Given the description of an element on the screen output the (x, y) to click on. 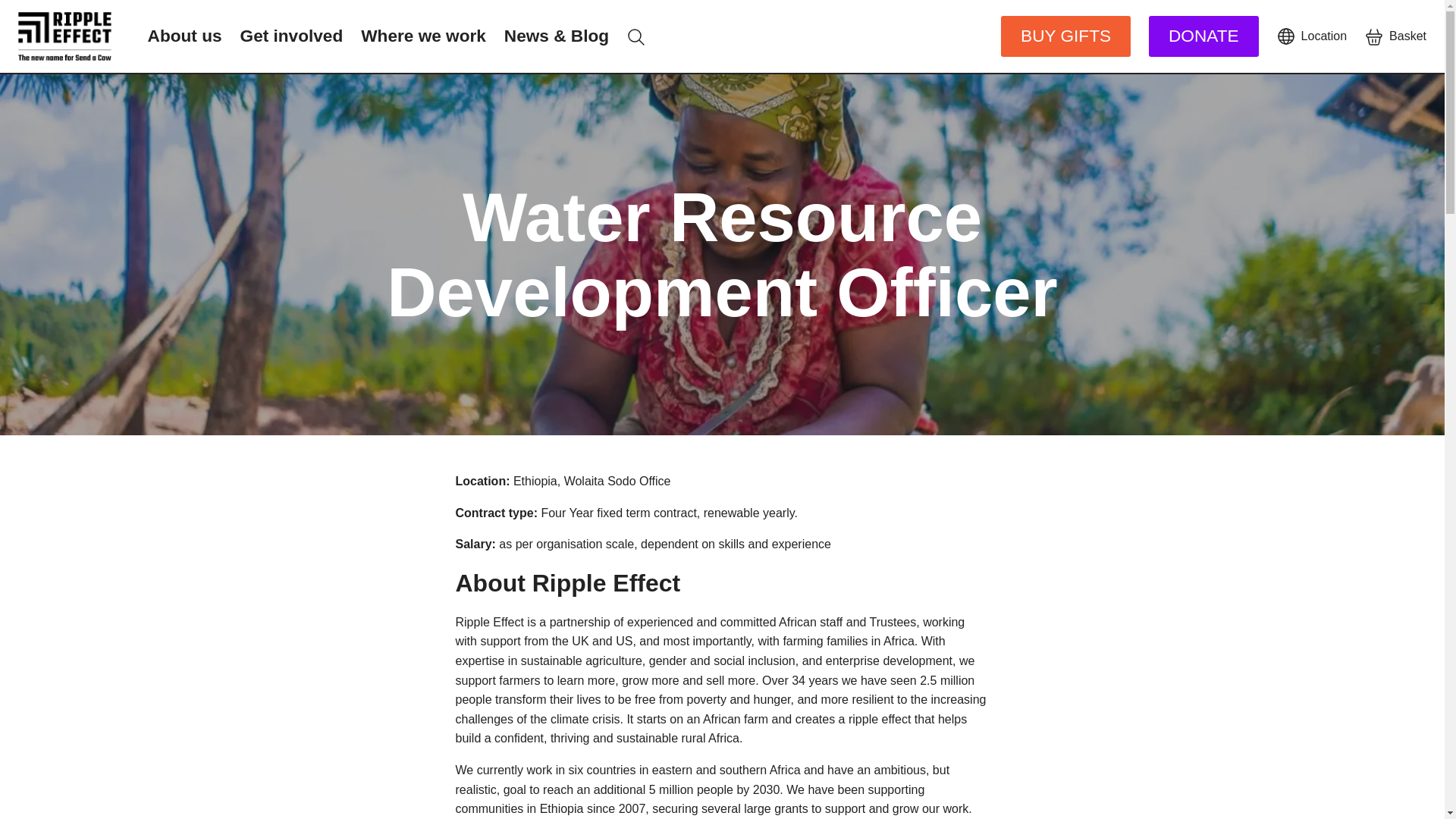
Get involved (291, 35)
About us (185, 35)
Where we work (423, 35)
